Given the description of an element on the screen output the (x, y) to click on. 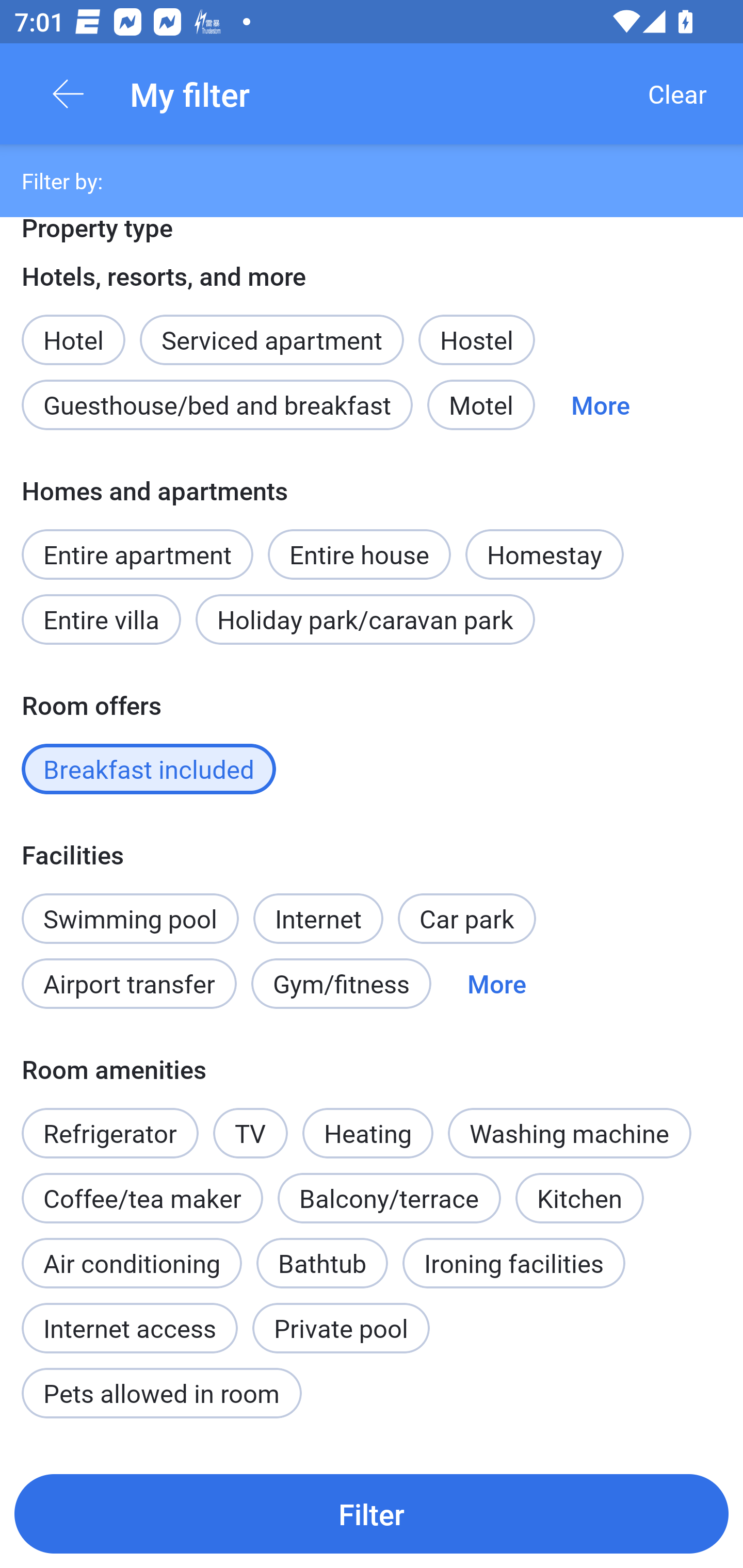
Clear (676, 93)
Hotel (73, 329)
Serviced apartment (271, 329)
Hostel (476, 339)
Guesthouse/bed and breakfast (217, 405)
Motel (480, 405)
More (600, 405)
Entire apartment (137, 554)
Entire house (359, 543)
Homestay (544, 554)
Entire villa (101, 619)
Holiday park/caravan park (364, 619)
Swimming pool (130, 917)
Internet (318, 907)
Car park (466, 917)
Airport transfer (129, 983)
Gym/fitness (341, 983)
More (496, 983)
Refrigerator (109, 1122)
TV (250, 1132)
Heating (367, 1122)
Washing machine (569, 1132)
Coffee/tea maker (142, 1198)
Balcony/terrace (388, 1198)
Kitchen (579, 1198)
Air conditioning (131, 1262)
Bathtub (321, 1251)
Ironing facilities (513, 1262)
Internet access (129, 1317)
Private pool (340, 1328)
Pets allowed in room (161, 1393)
Filter (371, 1513)
